Given the description of an element on the screen output the (x, y) to click on. 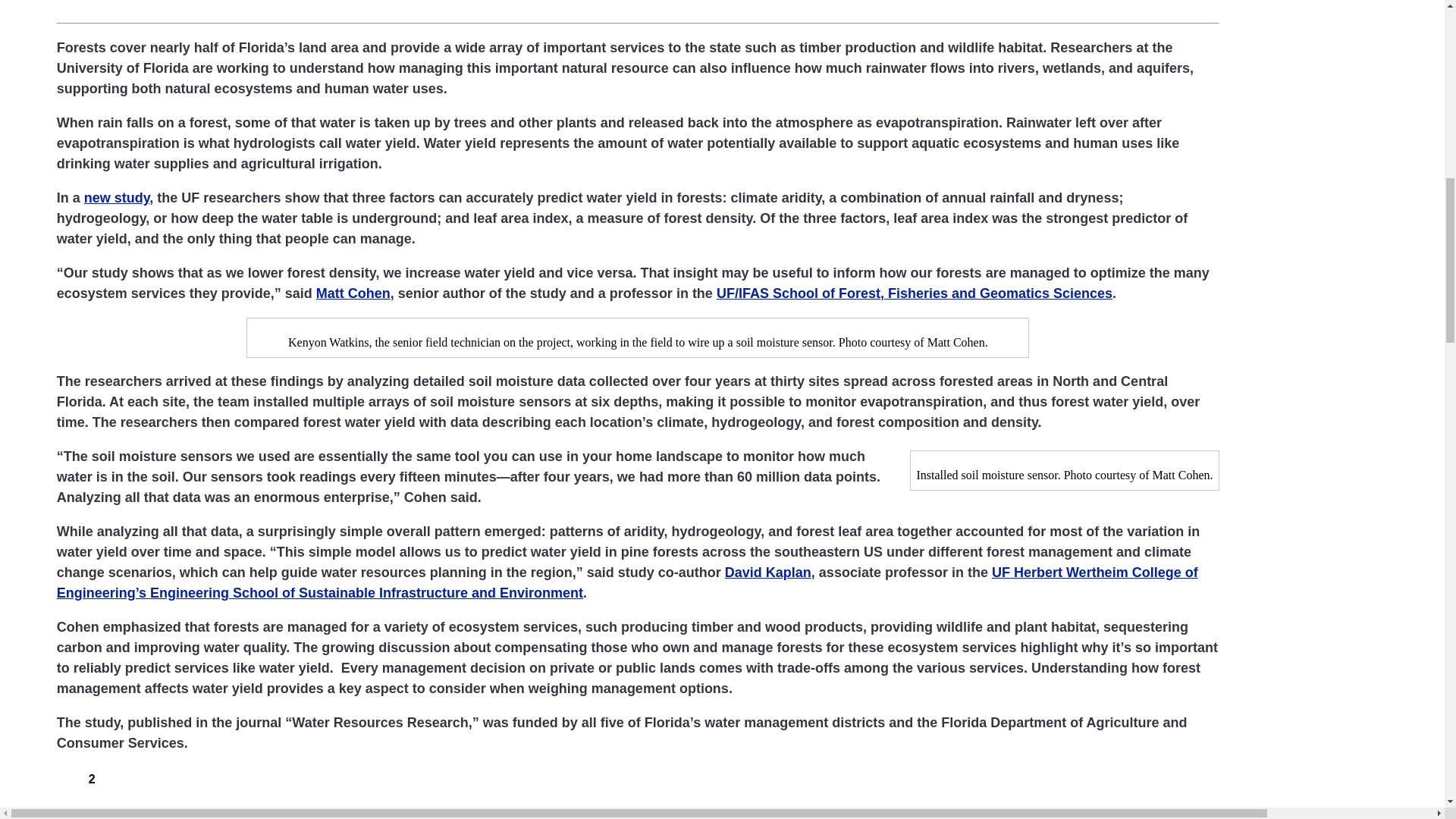
I found this post helpful (65, 776)
